Given the description of an element on the screen output the (x, y) to click on. 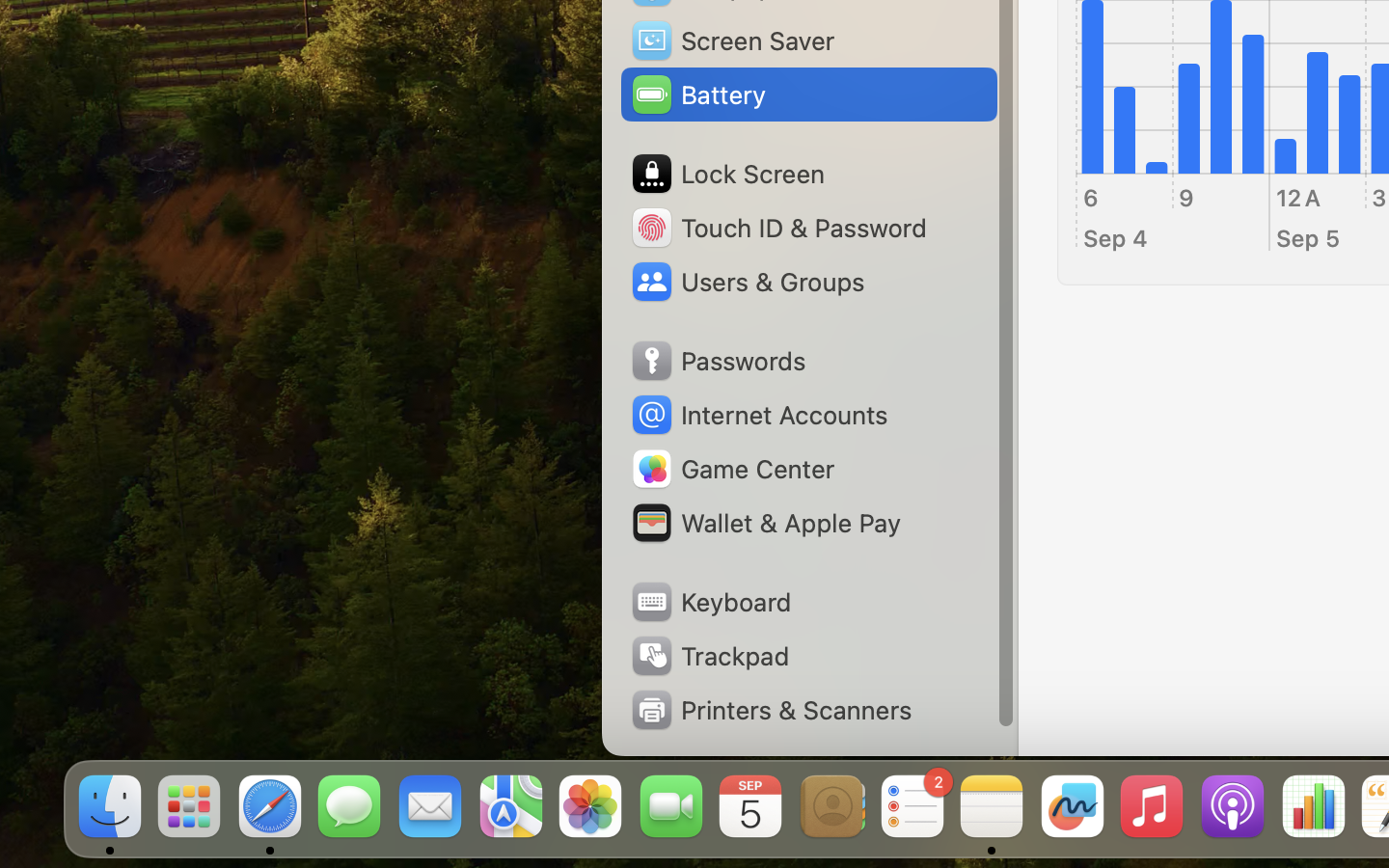
Printers & Scanners Element type: AXStaticText (770, 709)
Lock Screen Element type: AXStaticText (726, 173)
Battery Element type: AXStaticText (696, 94)
Wallet & Apple Pay Element type: AXStaticText (764, 522)
Keyboard Element type: AXStaticText (709, 601)
